Given the description of an element on the screen output the (x, y) to click on. 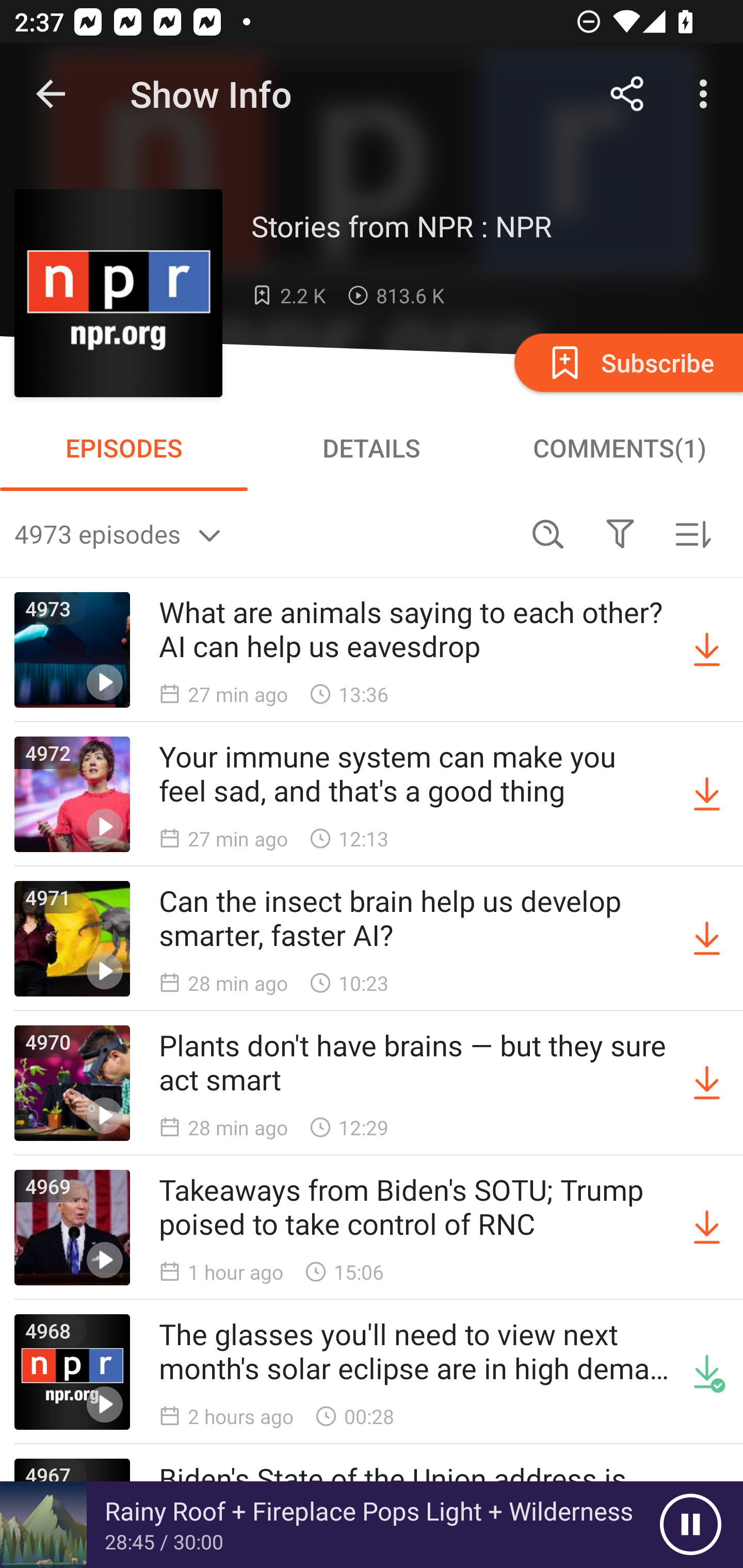
Navigate up (50, 93)
Share (626, 93)
More options (706, 93)
Subscribe (627, 361)
EPISODES (123, 447)
DETAILS (371, 447)
COMMENTS(1) (619, 447)
4973 episodes  (262, 533)
 Search (547, 533)
 (619, 533)
 Sorted by newest first (692, 533)
Download (706, 649)
Download (706, 793)
Download (706, 939)
Download (706, 1083)
Download (706, 1227)
Downloaded (706, 1371)
Pause (690, 1524)
